Given the description of an element on the screen output the (x, y) to click on. 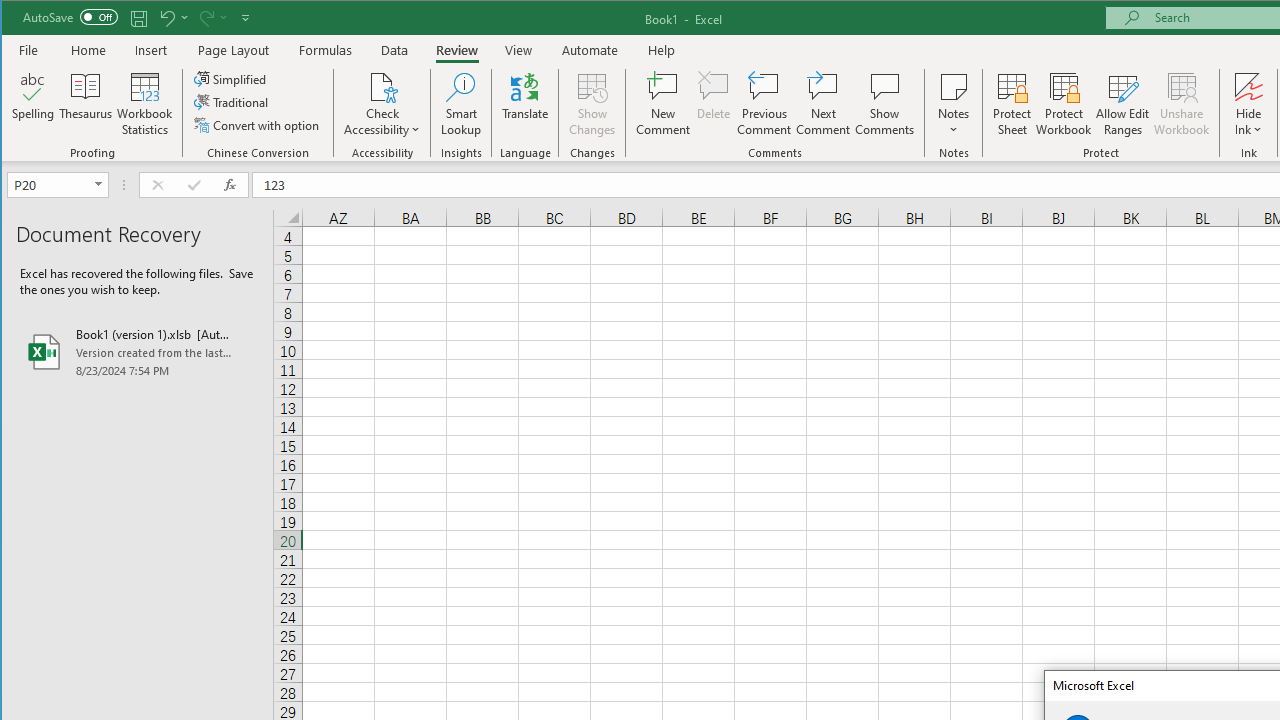
Check Accessibility (381, 104)
Workbook Statistics (145, 104)
Notes (954, 104)
Check Accessibility (381, 86)
Smart Lookup (461, 104)
Spelling... (33, 104)
Show Changes (592, 104)
Unshare Workbook (1182, 104)
